Given the description of an element on the screen output the (x, y) to click on. 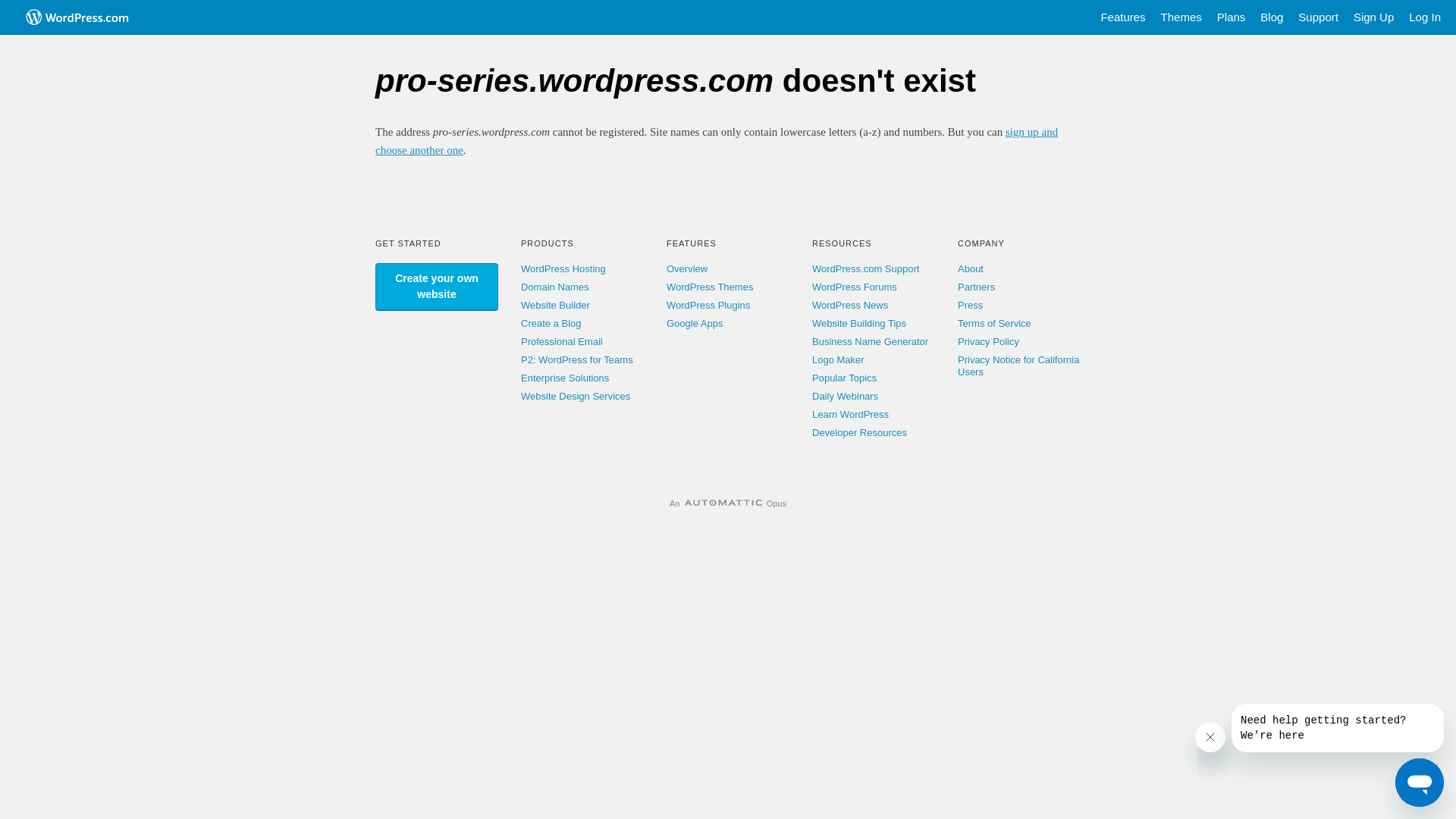
Professional Email Element type: text (561, 341)
Website Design Services Element type: text (575, 395)
Message from company Element type: hover (1337, 727)
Blog Element type: text (1271, 17)
Log In Element type: text (1424, 17)
Plans Element type: text (1231, 17)
Features Element type: text (1122, 17)
Enterprise Solutions Element type: text (564, 377)
About Element type: text (970, 268)
P2: WordPress for Teams Element type: text (576, 359)
Business Name Generator Element type: text (870, 341)
Website Builder Element type: text (554, 304)
WordPress Forums Element type: text (854, 286)
Automattic Element type: text (723, 503)
Developer Resources Element type: text (859, 432)
Google Apps Element type: text (694, 323)
Create a Blog Element type: text (550, 323)
Daily Webinars Element type: text (845, 395)
sign up and choose another one Element type: text (716, 140)
WordPress Themes Element type: text (709, 286)
Overview Element type: text (686, 268)
Sign Up Element type: text (1373, 17)
Logo Maker Element type: text (838, 359)
Partners Element type: text (975, 286)
Domain Names Element type: text (554, 286)
Close message Element type: hover (1210, 736)
Terms of Service Element type: text (994, 323)
Website Building Tips Element type: text (859, 323)
Create your own website Element type: text (436, 286)
Press Element type: text (969, 304)
Privacy Notice for California Users Element type: text (1018, 365)
Support Element type: text (1318, 17)
Themes Element type: text (1181, 17)
WordPress News Element type: text (850, 304)
Privacy Policy Element type: text (988, 341)
WordPress.com Support Element type: text (865, 268)
Button to launch messaging window Element type: hover (1419, 782)
Popular Topics Element type: text (844, 377)
WordPress Plugins Element type: text (707, 304)
Learn WordPress Element type: text (850, 414)
WordPress Hosting Element type: text (562, 268)
